Given the description of an element on the screen output the (x, y) to click on. 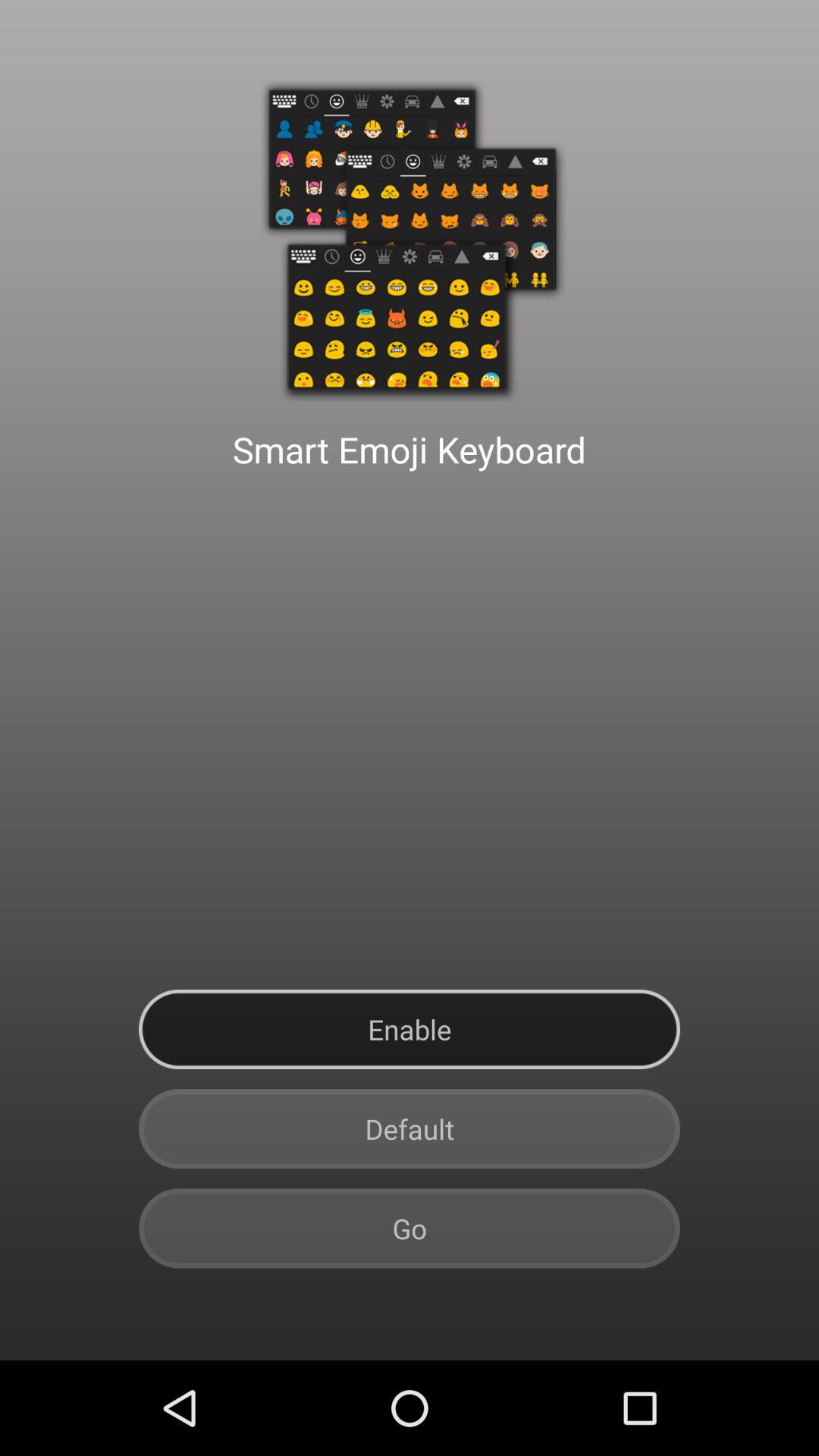
flip until default button (409, 1128)
